Given the description of an element on the screen output the (x, y) to click on. 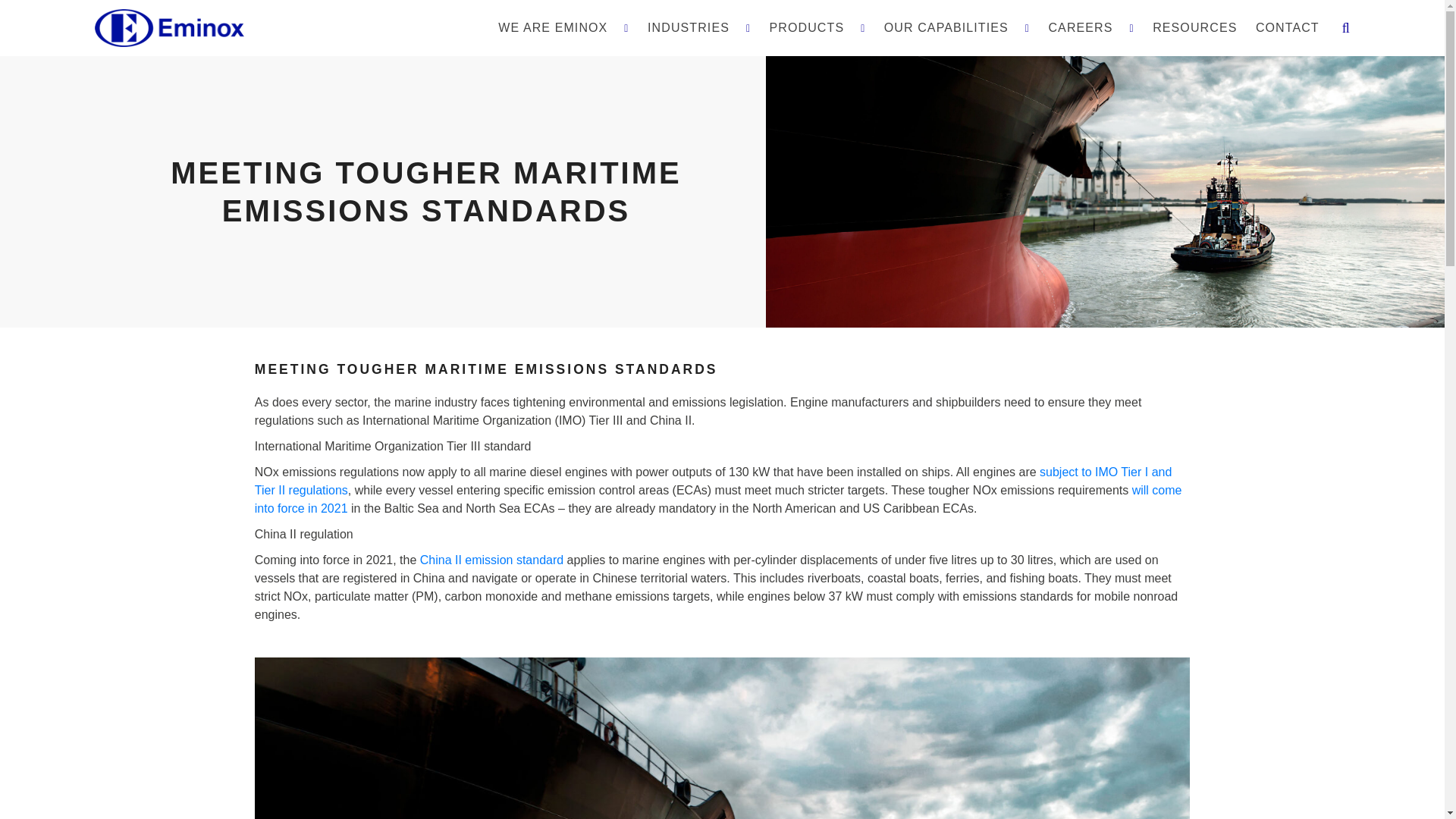
PRODUCTS (818, 27)
CAREERS (1091, 27)
RESOURCES (1194, 27)
CONTACT (1287, 27)
WE ARE EMINOX (562, 27)
INDUSTRIES (699, 27)
OUR CAPABILITIES (956, 27)
